Given the description of an element on the screen output the (x, y) to click on. 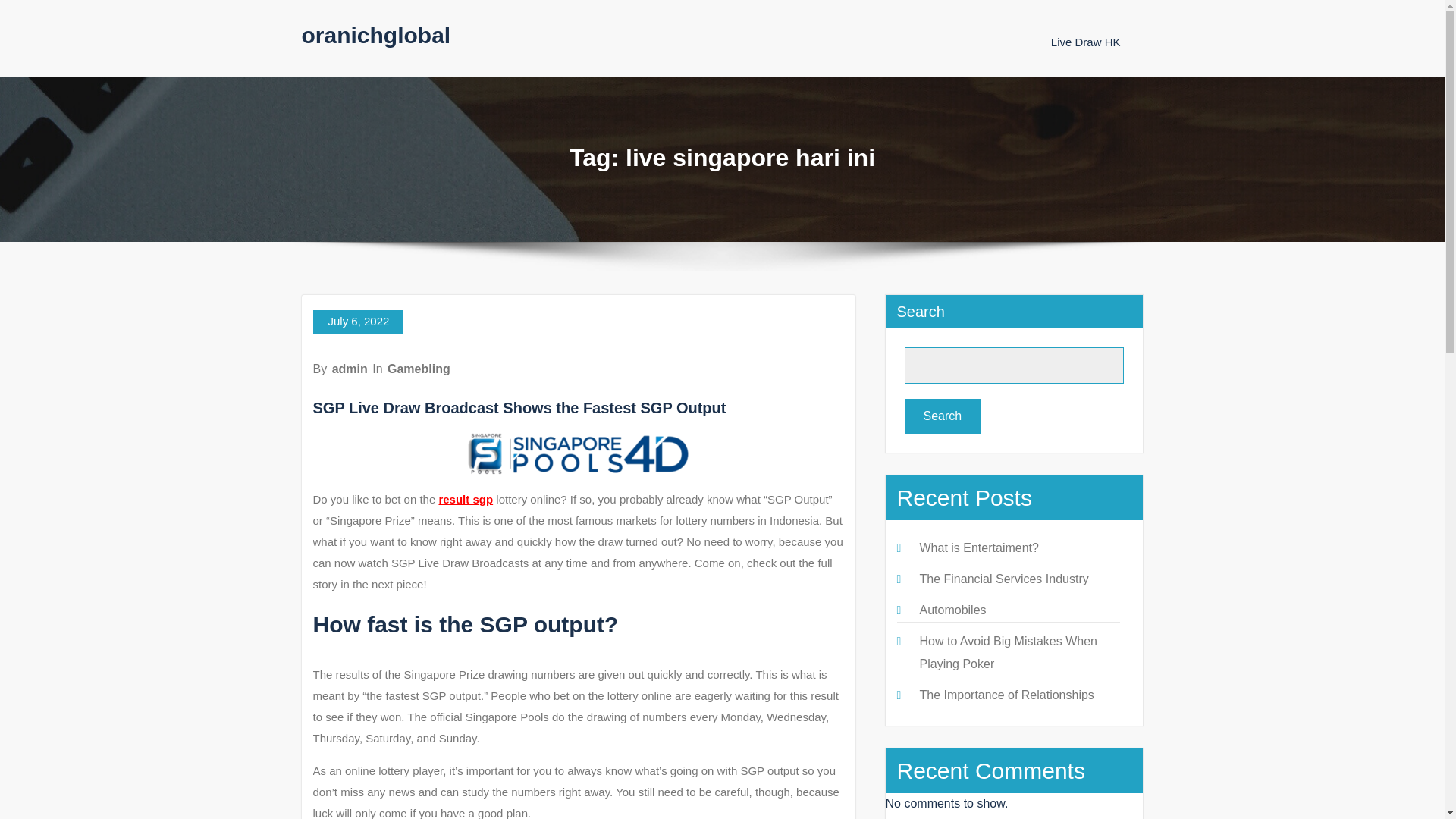
admin (349, 368)
What is Entertaiment? (978, 547)
Gamebling (418, 368)
How to Avoid Big Mistakes When Playing Poker (1007, 652)
oranichglobal (376, 34)
result sgp (465, 499)
Live Draw HK (1086, 41)
July 6, 2022 (358, 322)
The Importance of Relationships (1005, 694)
The Financial Services Industry (1002, 578)
Automobiles (951, 609)
Search (941, 416)
SGP Live Draw Broadcast Shows the Fastest SGP Output (519, 407)
